Given the description of an element on the screen output the (x, y) to click on. 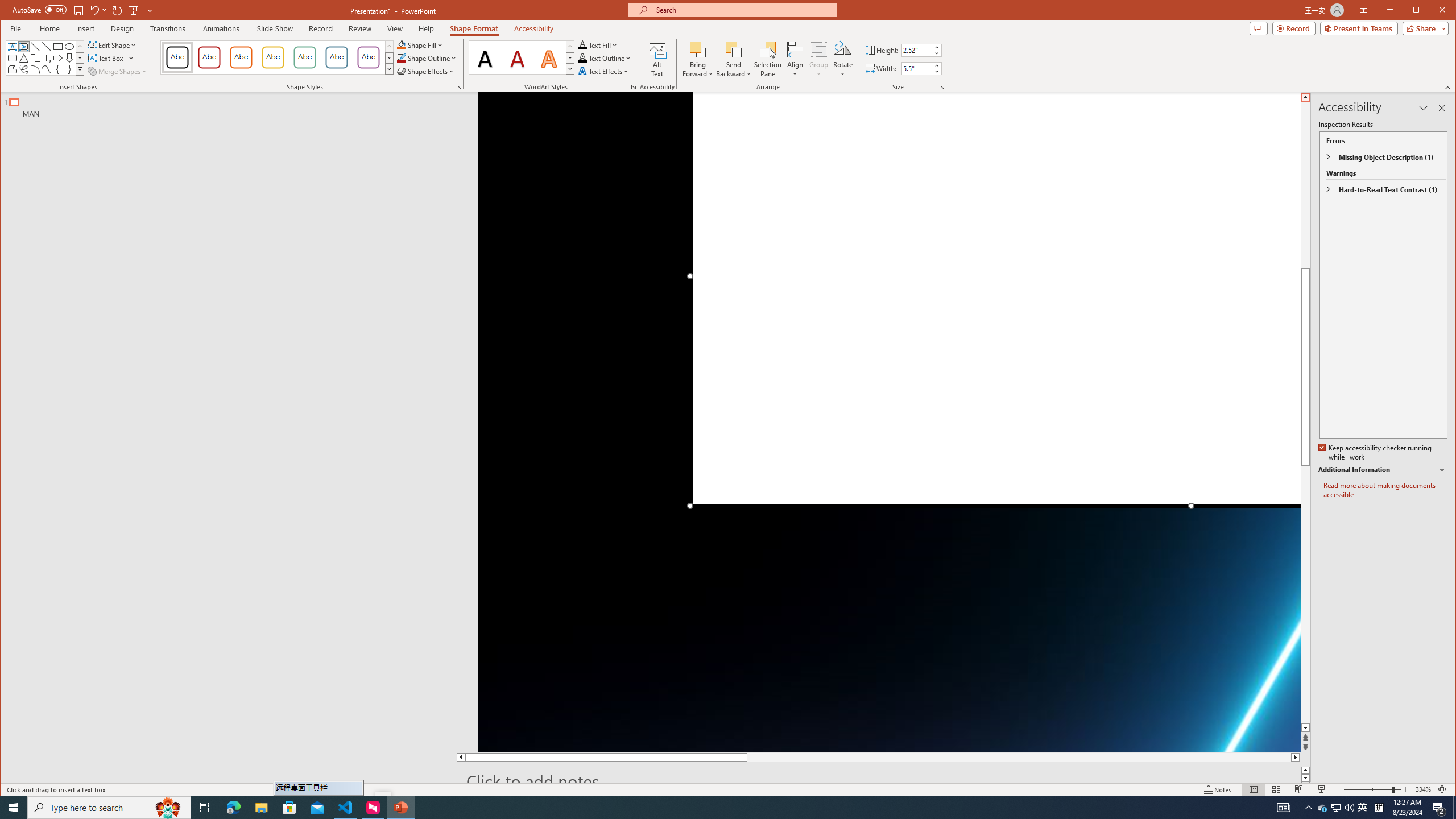
Align (794, 59)
More (935, 64)
Alt Text (1322, 807)
Less (657, 59)
